Given the description of an element on the screen output the (x, y) to click on. 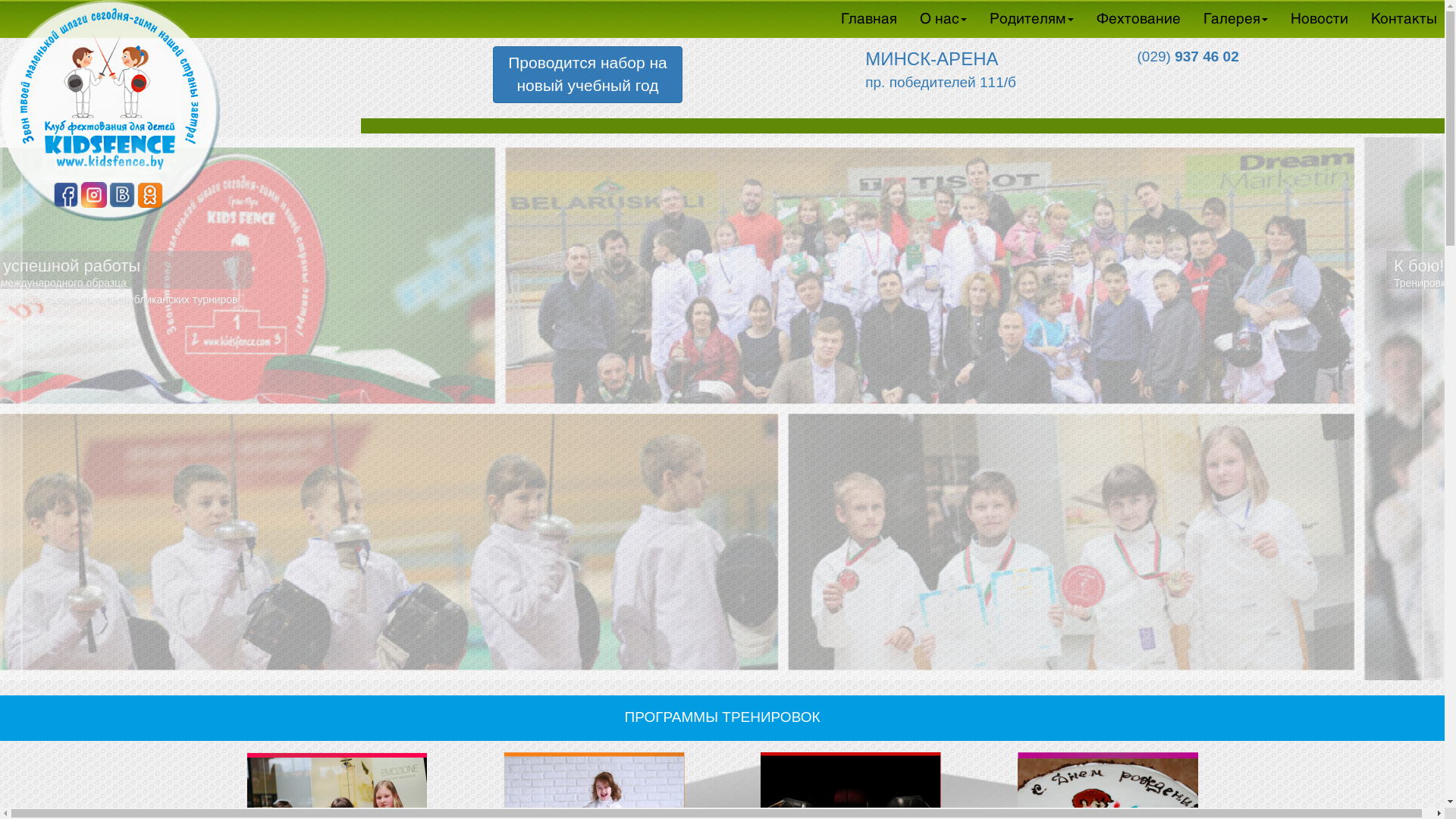
(029) 937 46 02 Element type: text (1176, 56)
  Element type: text (1176, 84)
